Given the description of an element on the screen output the (x, y) to click on. 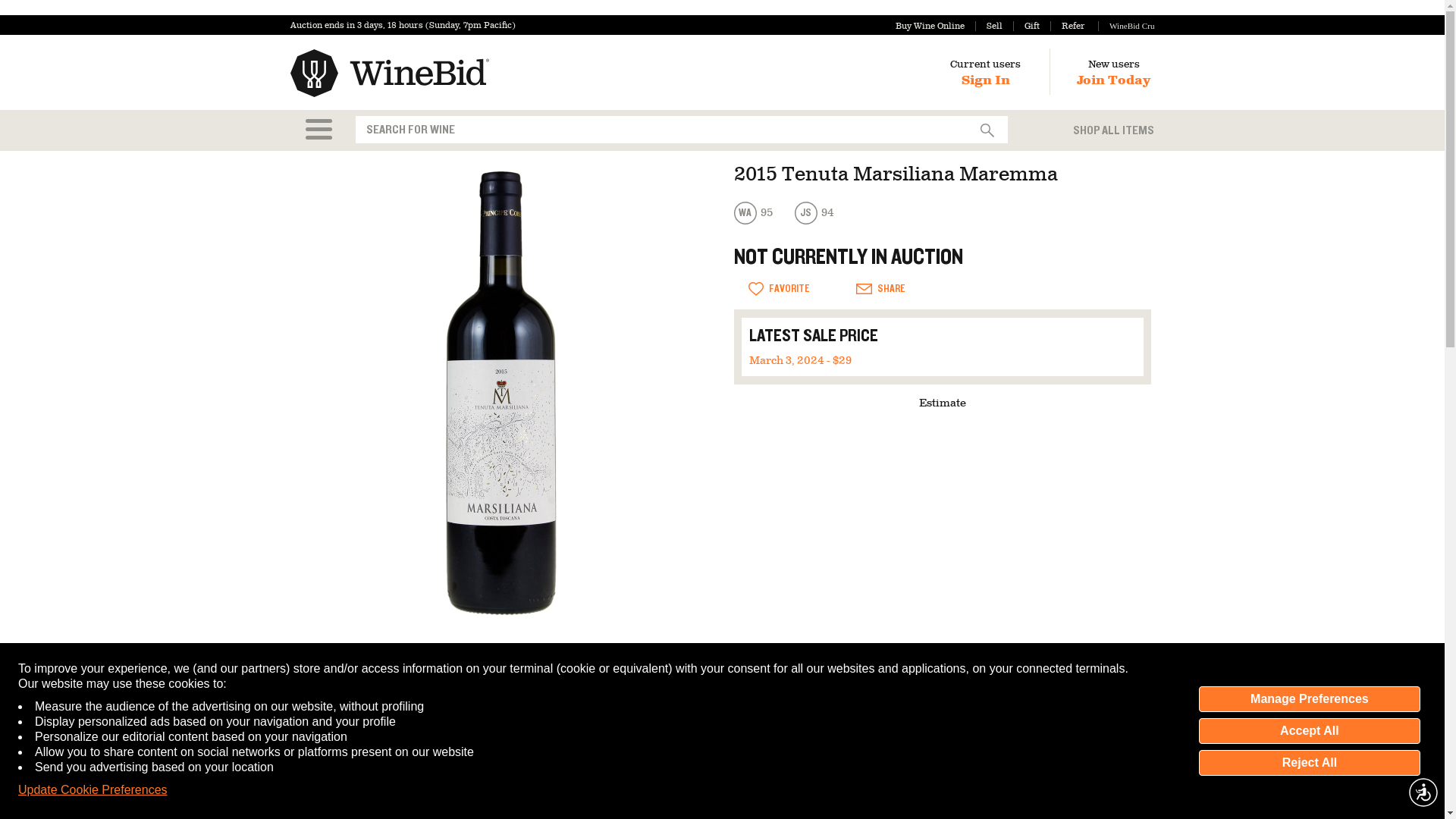
Manage Preferences (1309, 698)
Accessibility Menu (1422, 792)
Gift (1026, 26)
Reject All (1309, 762)
Refer (1066, 26)
Buy Wine Online (929, 26)
Sign In (985, 79)
WineBid Cru (1125, 26)
Join Today (1113, 79)
Accept All (1309, 730)
Sell (989, 26)
Update Cookie Preferences (92, 789)
